Given the description of an element on the screen output the (x, y) to click on. 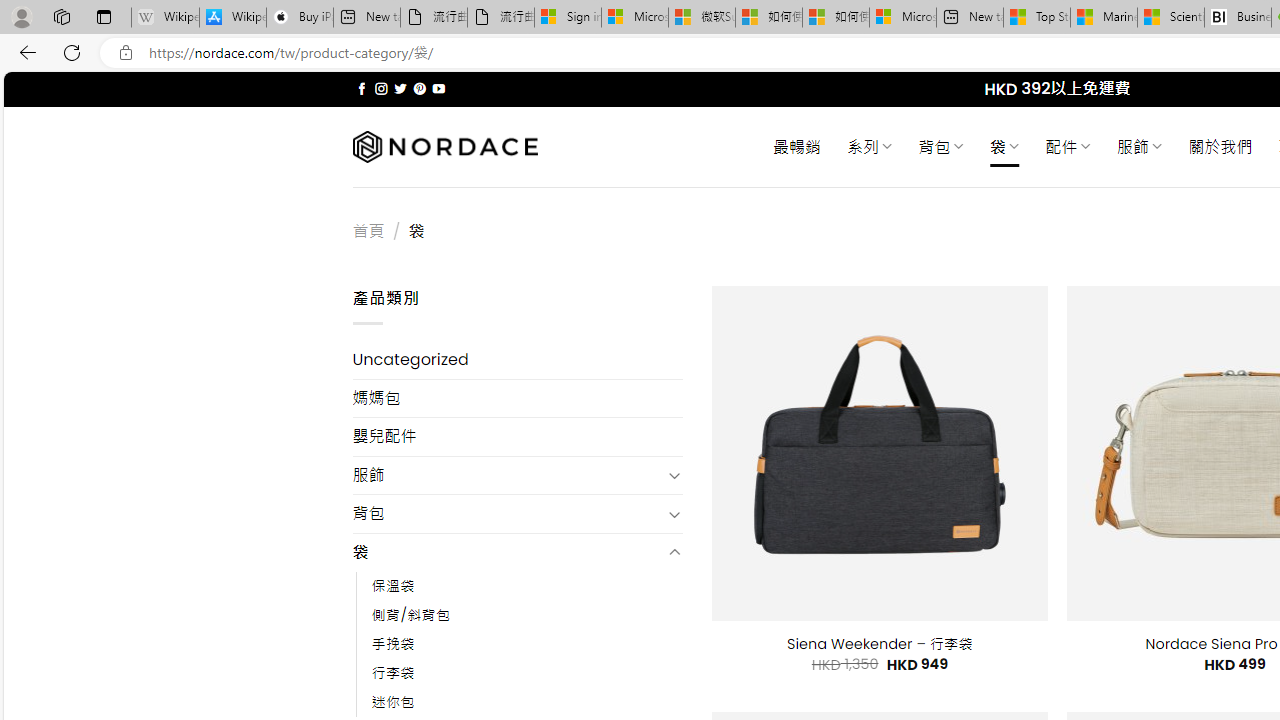
Follow on Instagram (381, 88)
Follow on Twitter (400, 88)
Uncategorized (517, 359)
